Given the description of an element on the screen output the (x, y) to click on. 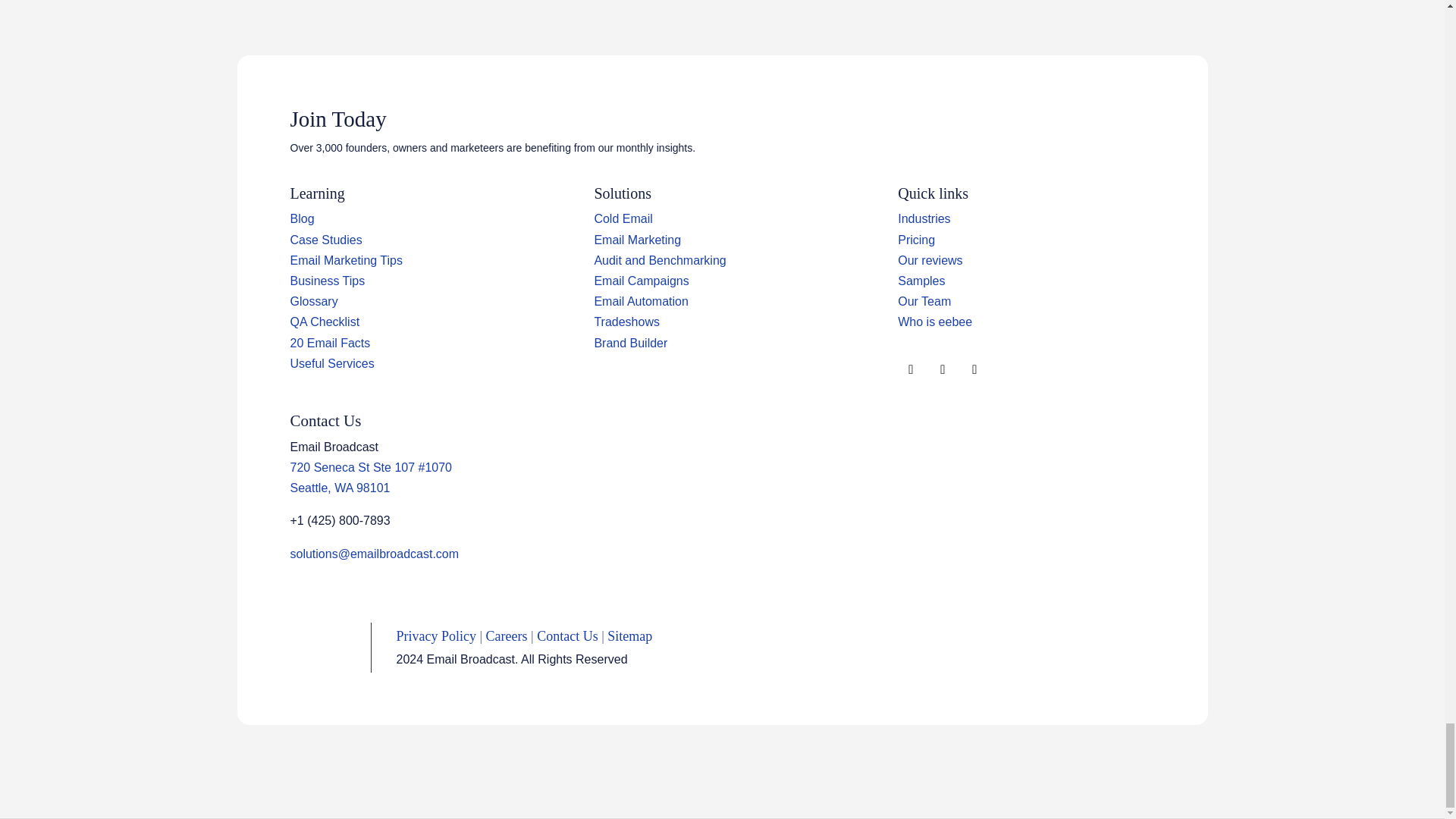
Follow on Facebook (910, 370)
Follow on LinkedIn (942, 370)
Email Broadcast Office (339, 487)
emailbroadcast-transparent-2 (329, 647)
Email Broadcast Office (370, 467)
Follow on Youtube (973, 370)
